Given the description of an element on the screen output the (x, y) to click on. 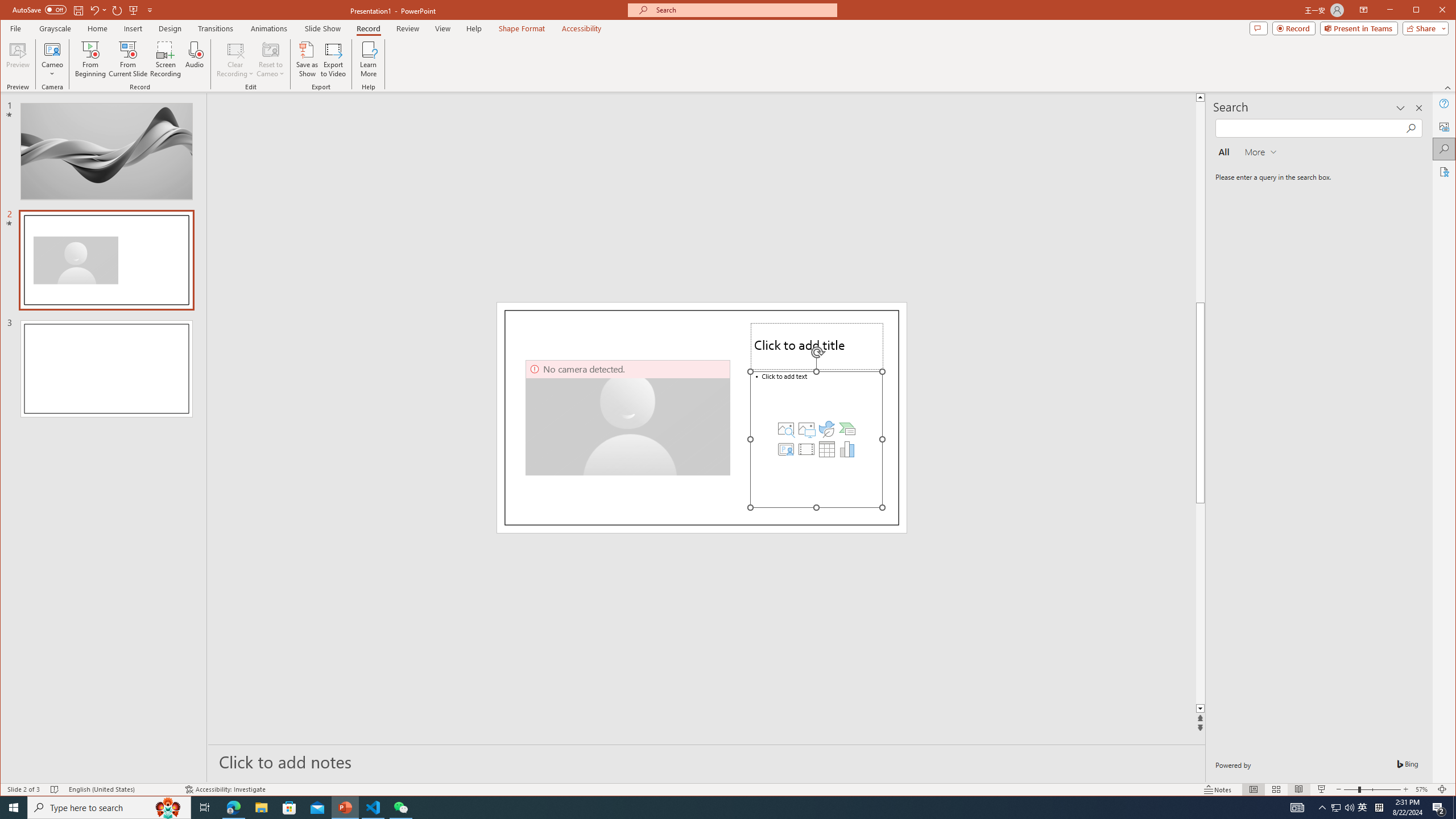
Maximize (1432, 11)
File Explorer (261, 807)
Pictures (806, 428)
Learn More (1362, 807)
